Given the description of an element on the screen output the (x, y) to click on. 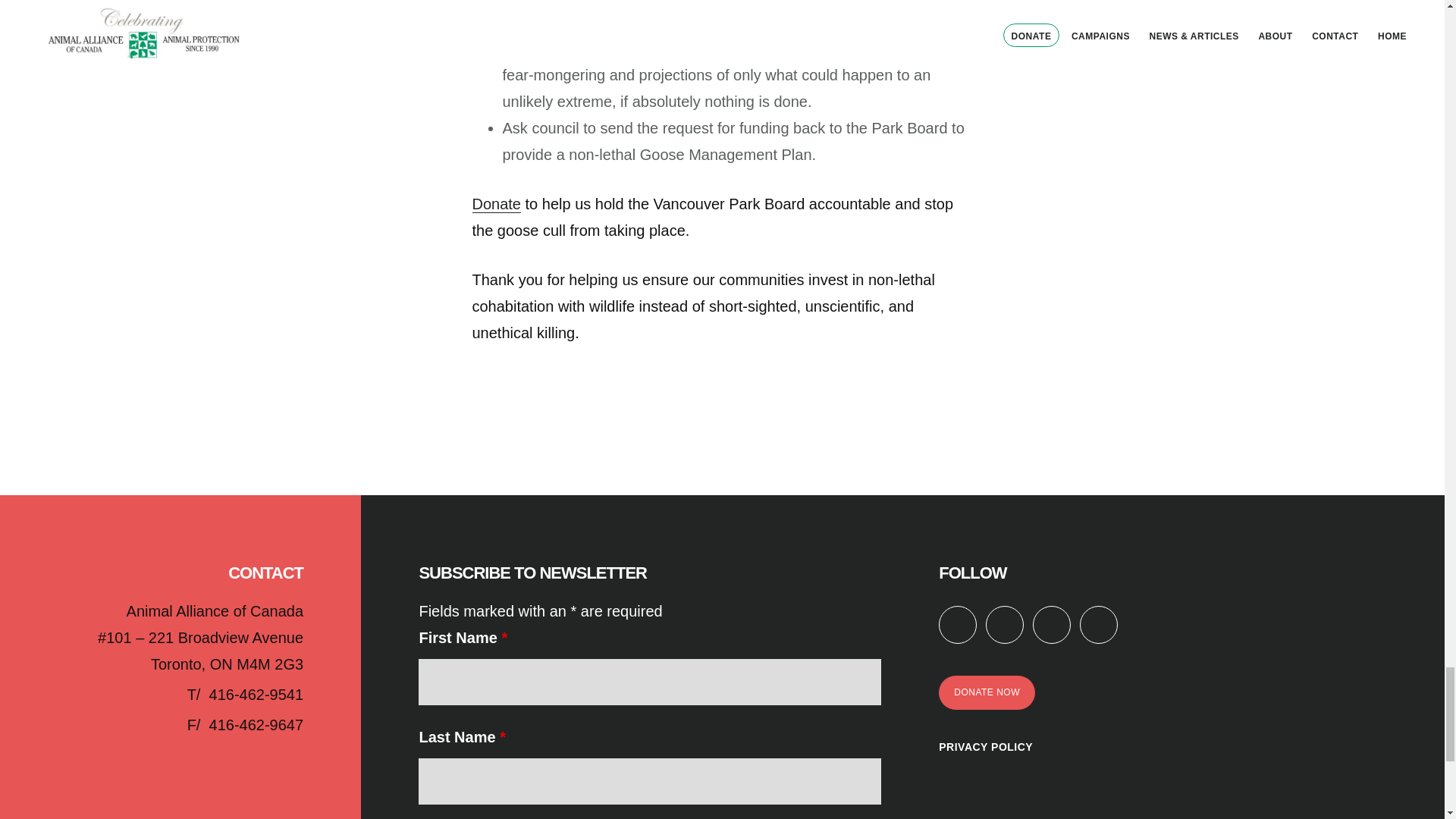
PRIVACY POLICY (985, 746)
Donate (496, 203)
DONATE NOW (987, 692)
